Given the description of an element on the screen output the (x, y) to click on. 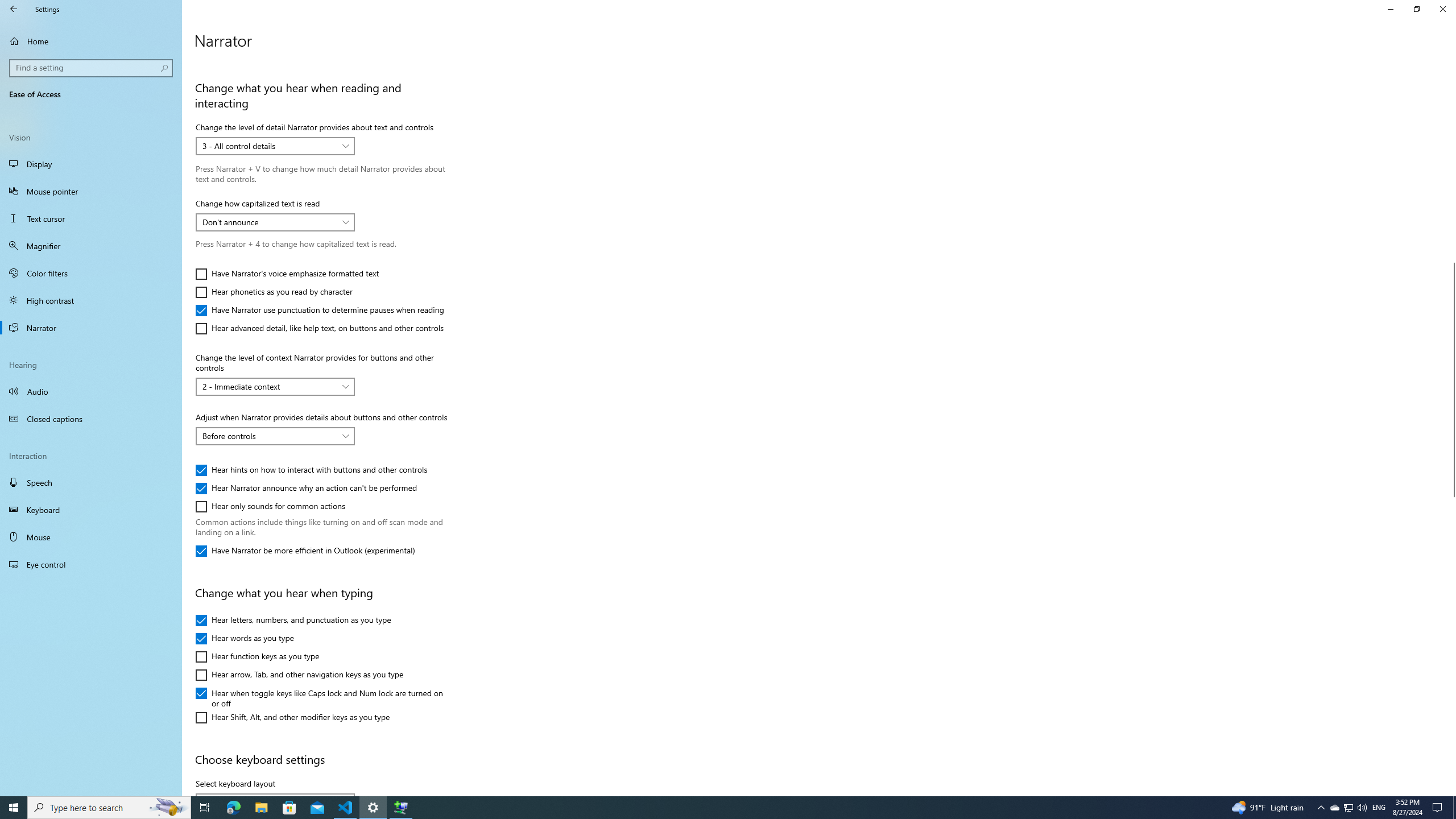
Eye control (91, 564)
Color filters (91, 272)
Action Center, No new notifications (1439, 807)
Lower the volume of other apps when Narrator is speaking (1333, 807)
Restore Settings (306, 2)
Select where you hear Narrator's voice (1416, 9)
Closed captions (246, 43)
Vertical Small Decrease (91, 418)
2 - Immediate context (1451, 58)
Hear arrow, Tab, and other navigation keys as you type (269, 385)
Default Audio Device (299, 674)
Extensible Wizards Host Process - 1 running window (240, 43)
